Given the description of an element on the screen output the (x, y) to click on. 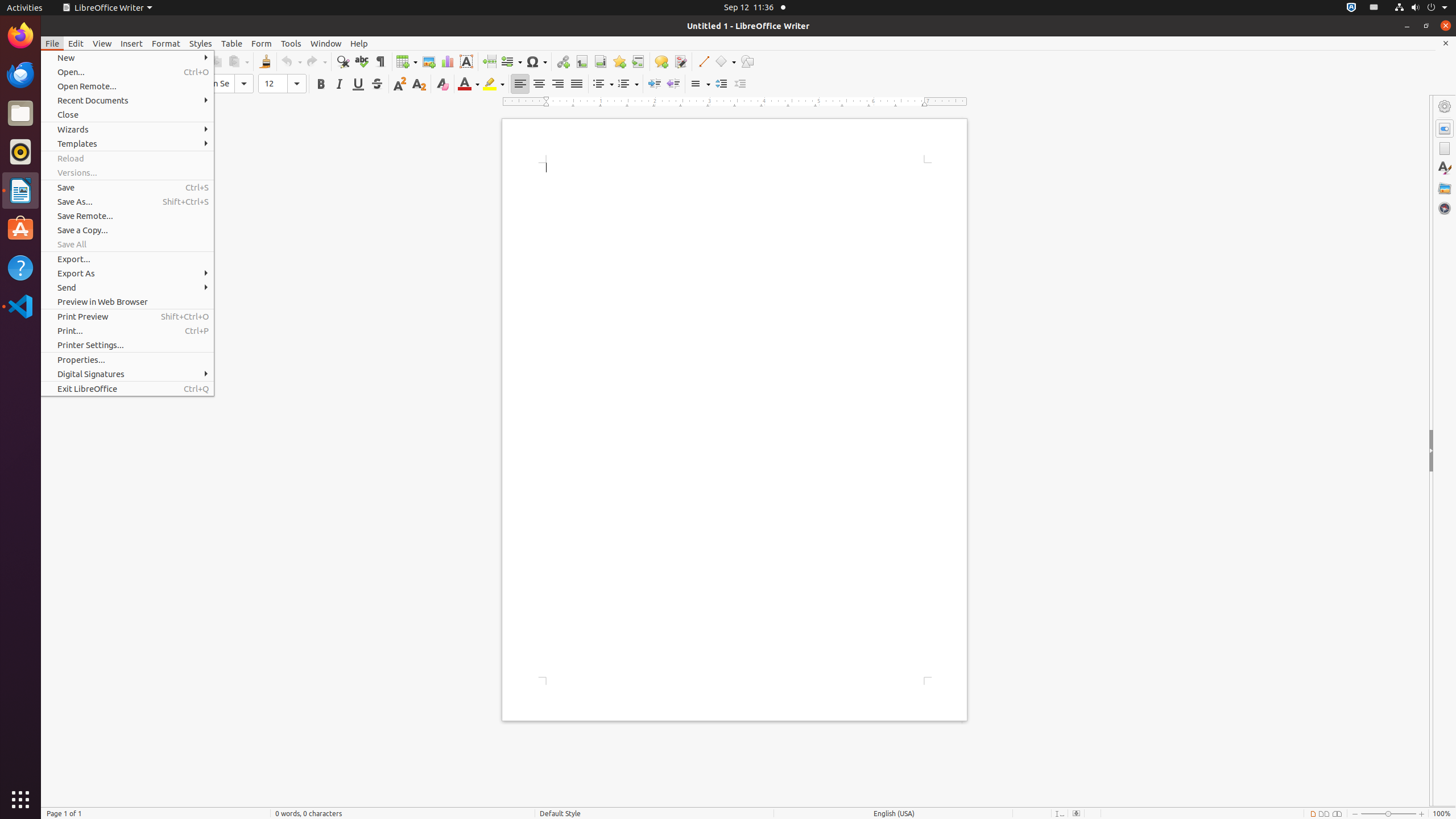
Digital Signatures Element type: menu (126, 373)
Decrease Element type: push-button (739, 83)
Gallery Element type: radio-button (1444, 188)
Recent Documents Element type: menu (126, 100)
Save All Element type: menu-item (126, 244)
